Given the description of an element on the screen output the (x, y) to click on. 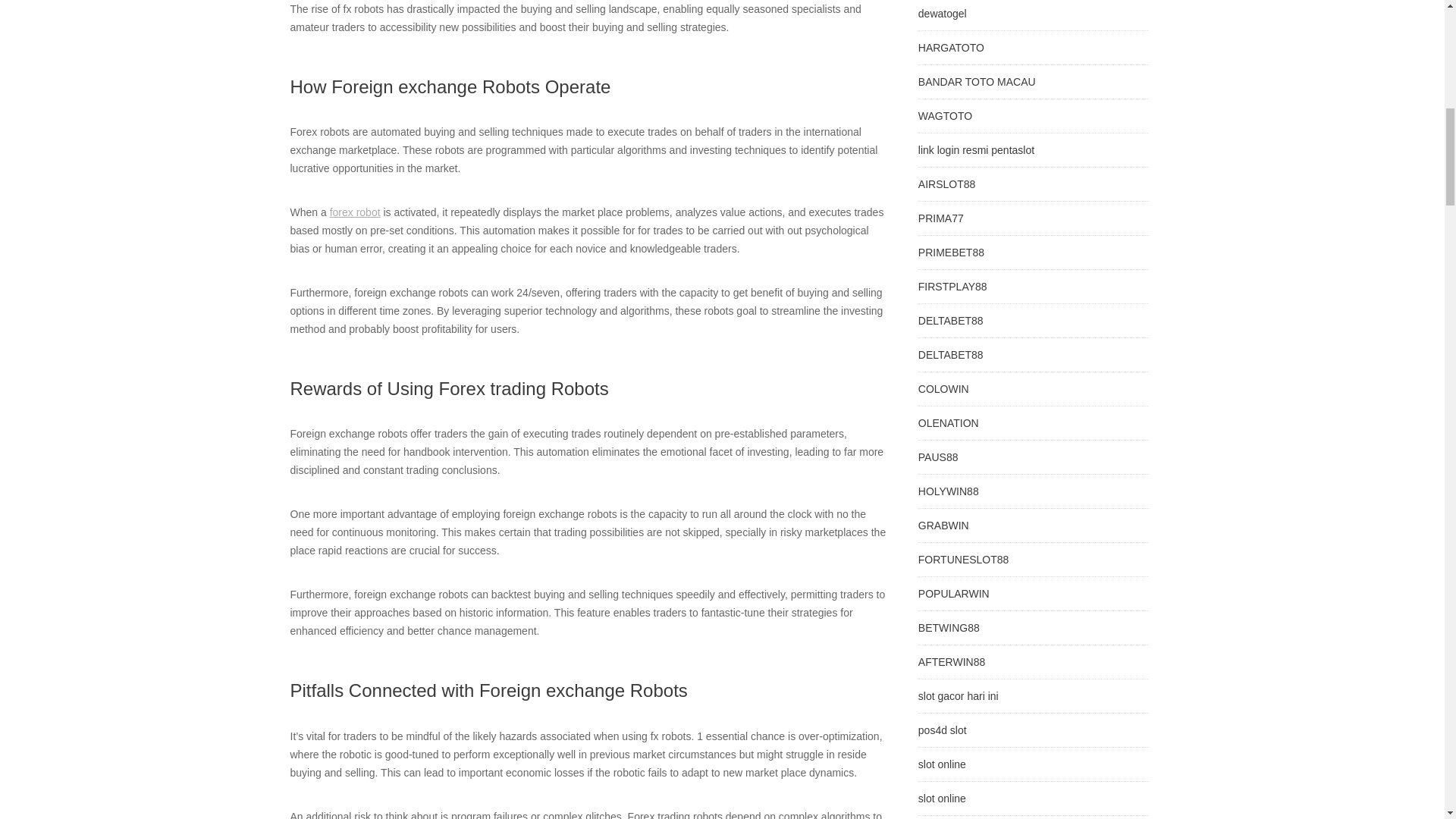
BANDAR TOTO MACAU (976, 81)
FIRSTPLAY88 (952, 286)
PRIMEBET88 (951, 252)
forex robot (355, 212)
DELTABET88 (951, 320)
DELTABET88 (951, 354)
link login resmi pentaslot (975, 150)
PRIMA77 (940, 218)
dewatogel (942, 13)
OLENATION (948, 422)
HARGATOTO (951, 47)
WAGTOTO (945, 115)
PAUS88 (938, 457)
AIRSLOT88 (946, 184)
COLOWIN (943, 388)
